Given the description of an element on the screen output the (x, y) to click on. 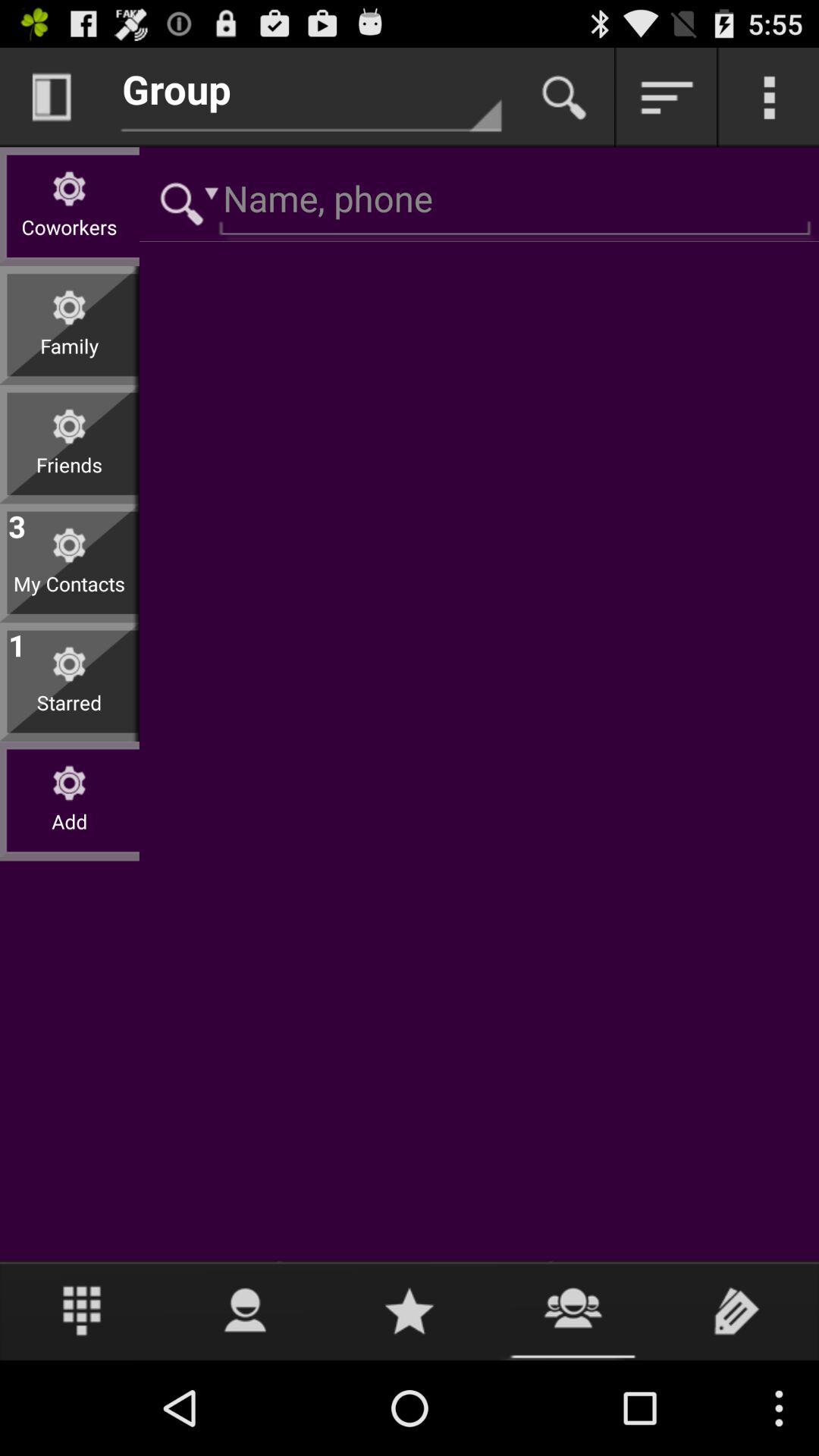
make a search (564, 97)
